Given the description of an element on the screen output the (x, y) to click on. 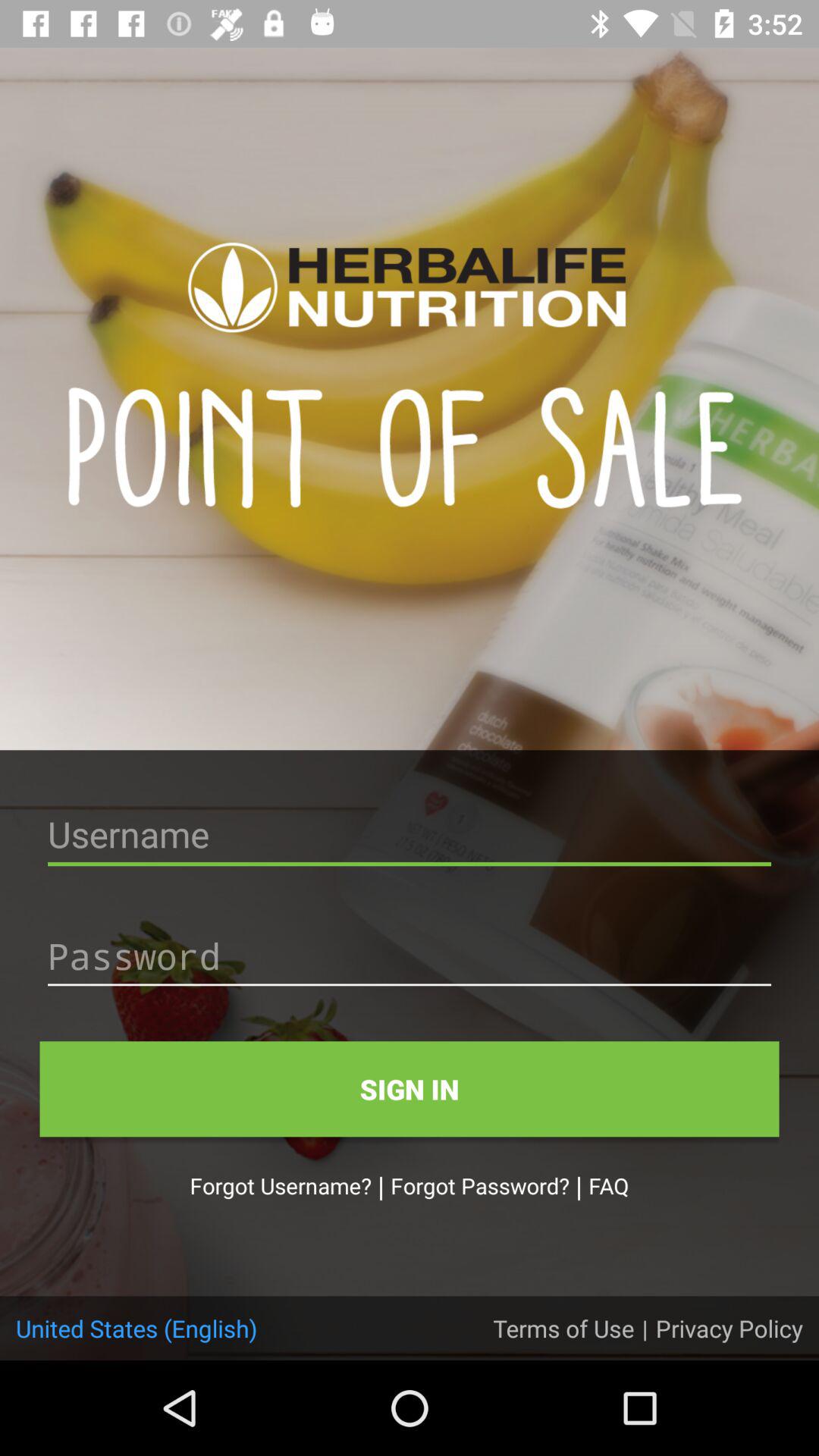
open the icon to the right of | icon (608, 1185)
